Given the description of an element on the screen output the (x, y) to click on. 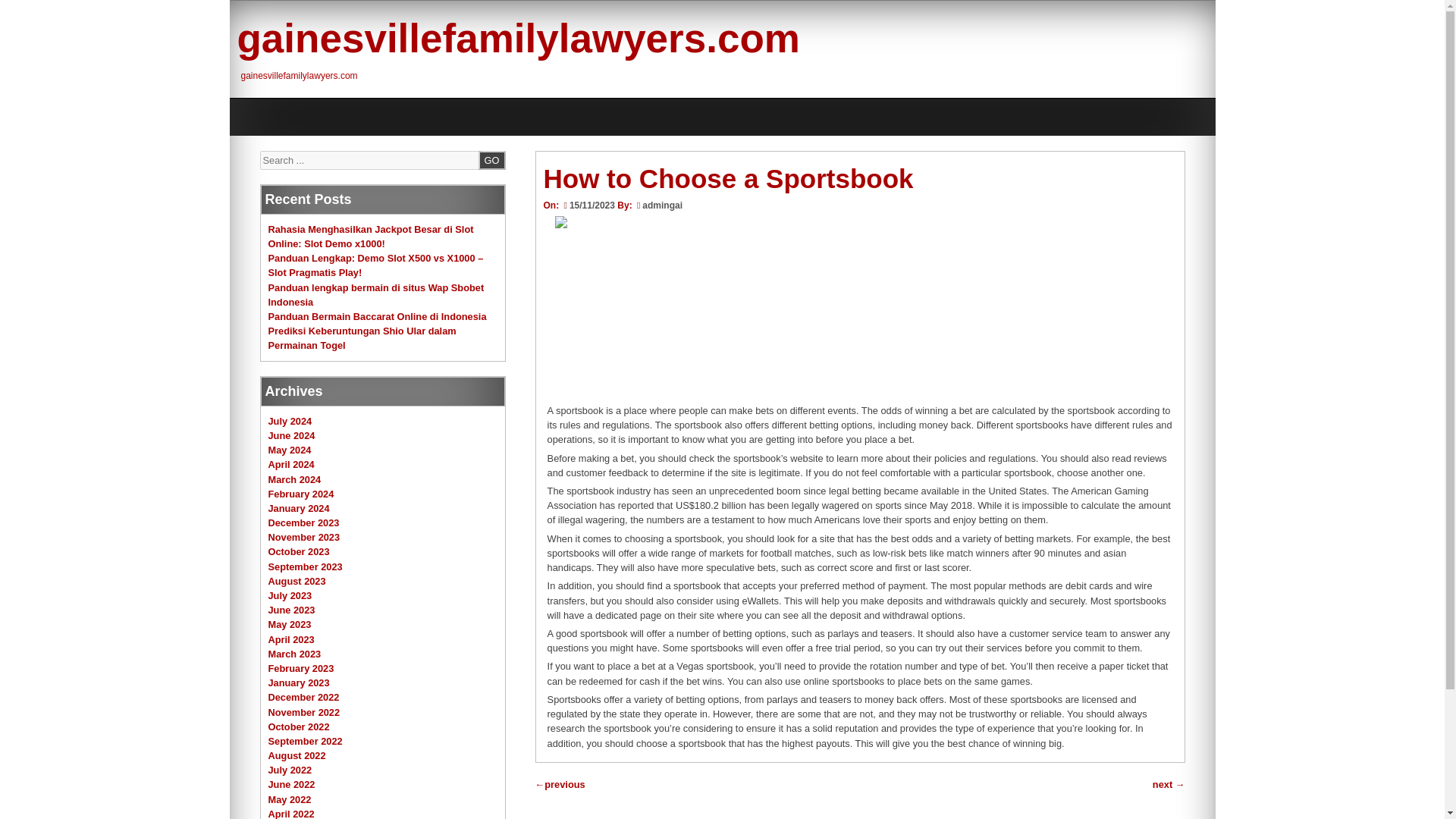
October 2023 (298, 551)
September 2022 (304, 740)
June 2023 (291, 609)
August 2022 (296, 755)
January 2024 (298, 508)
June 2022 (291, 784)
July 2024 (290, 420)
GO (492, 158)
July 2022 (290, 769)
May 2024 (289, 449)
April 2023 (290, 639)
June 2024 (291, 435)
November 2023 (303, 536)
admingai (662, 204)
